Given the description of an element on the screen output the (x, y) to click on. 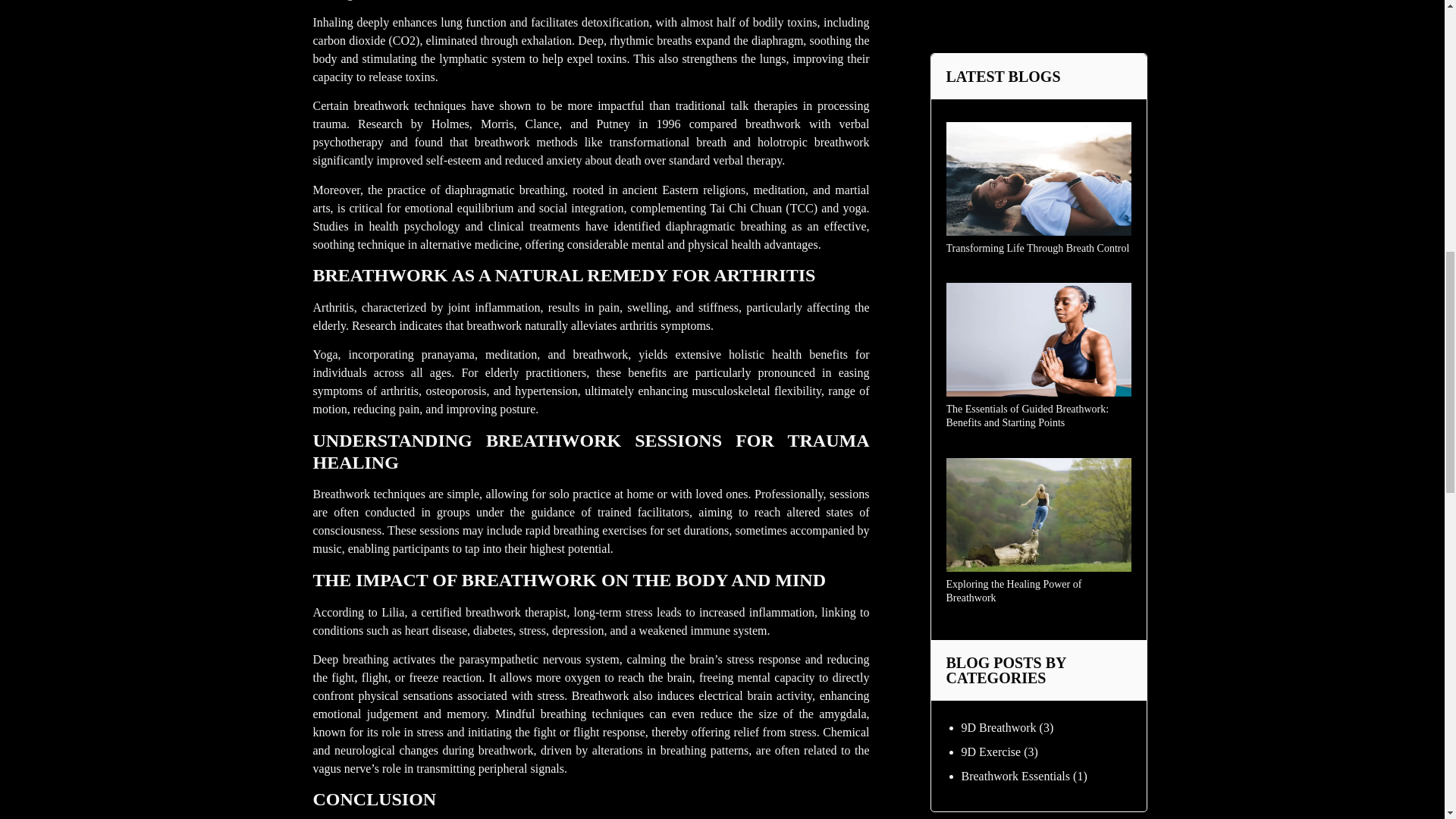
9D Breathwork (998, 2)
9D Exercise (991, 21)
Breathwork Essentials (1015, 46)
